Given the description of an element on the screen output the (x, y) to click on. 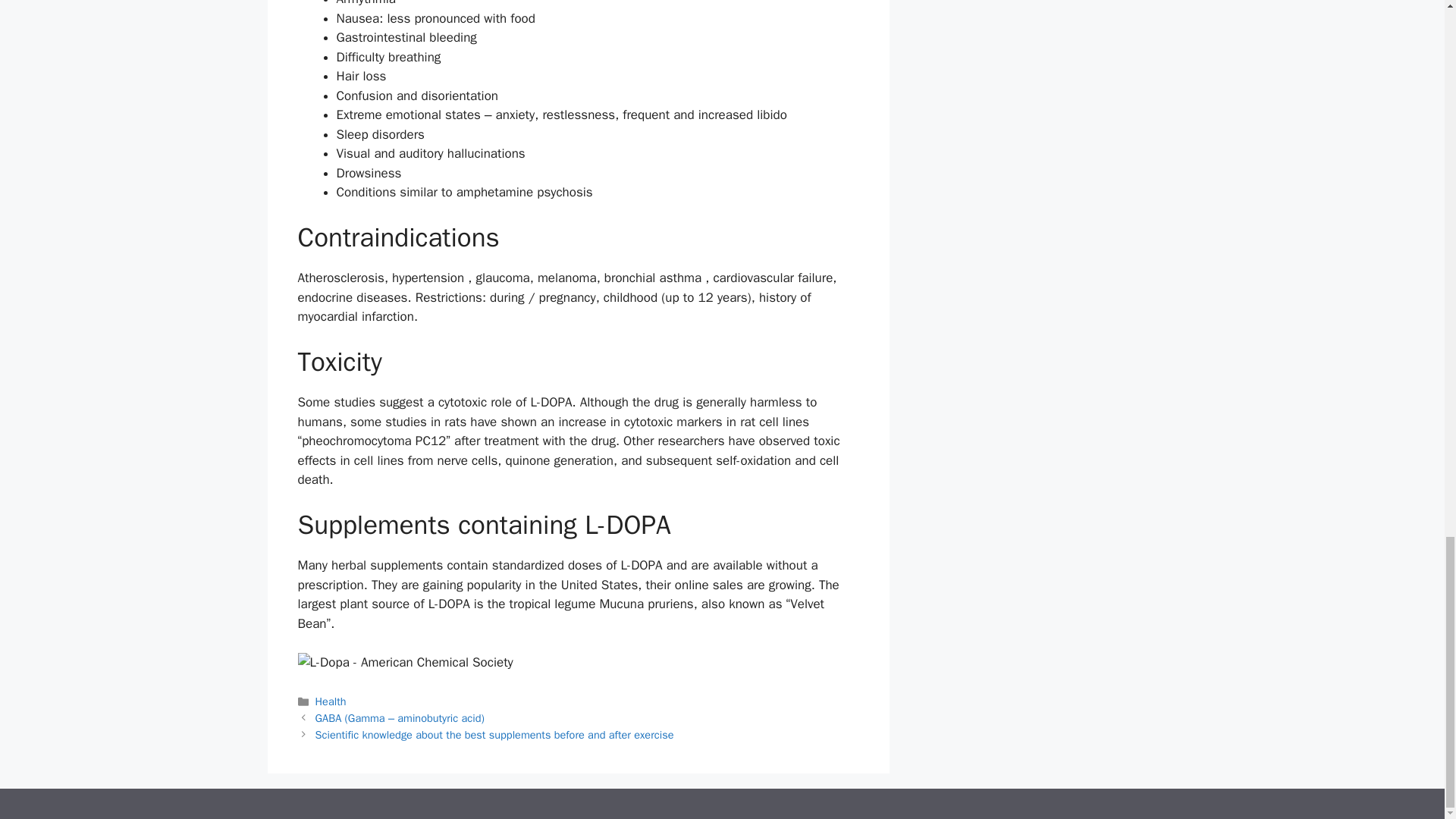
Next (494, 735)
Health (330, 701)
Previous (399, 717)
